Given the description of an element on the screen output the (x, y) to click on. 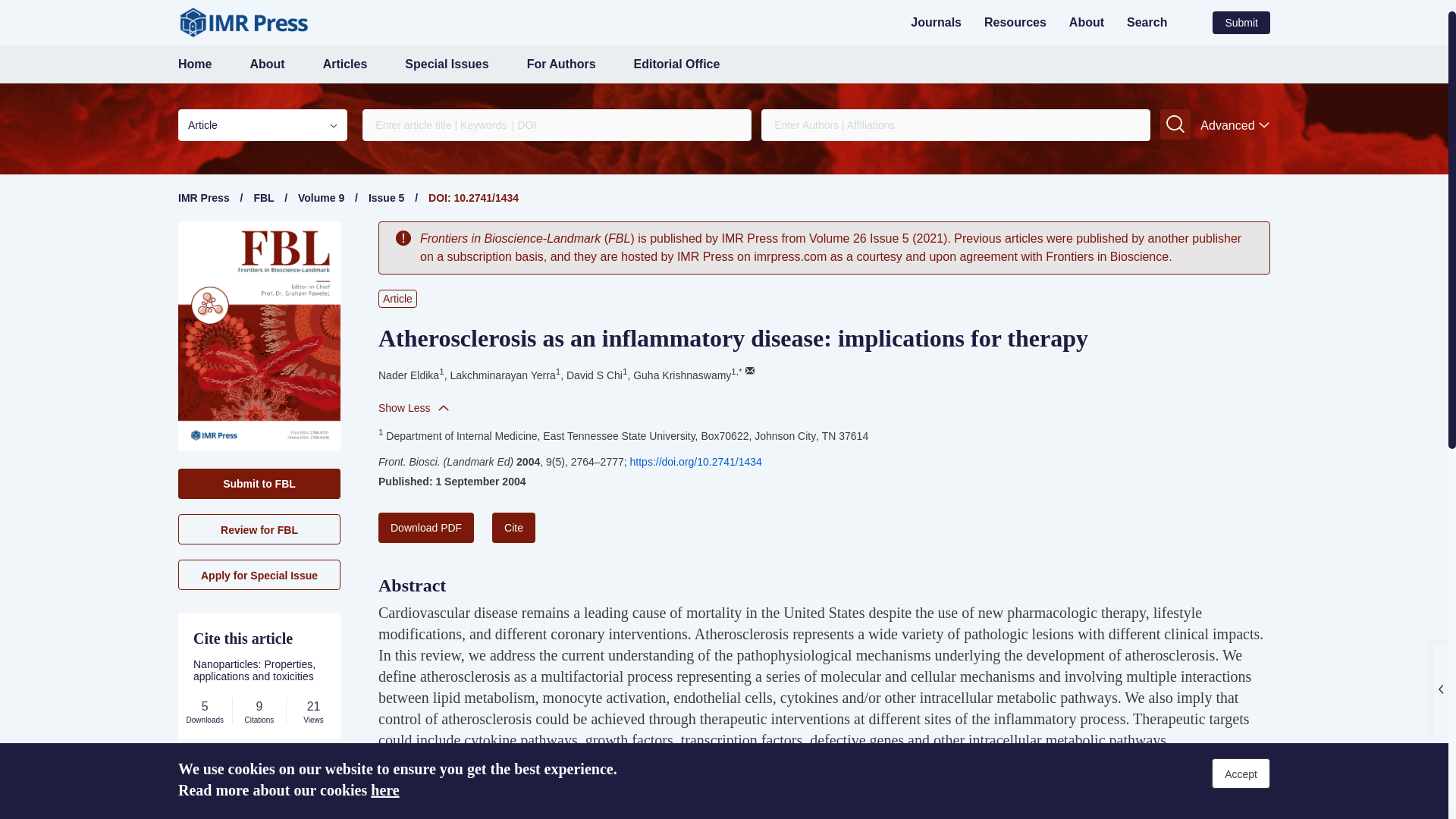
About (1085, 21)
Home (194, 63)
Articles (345, 63)
Search (1146, 21)
Journals (935, 21)
Resources (1015, 21)
About (265, 63)
